Given the description of an element on the screen output the (x, y) to click on. 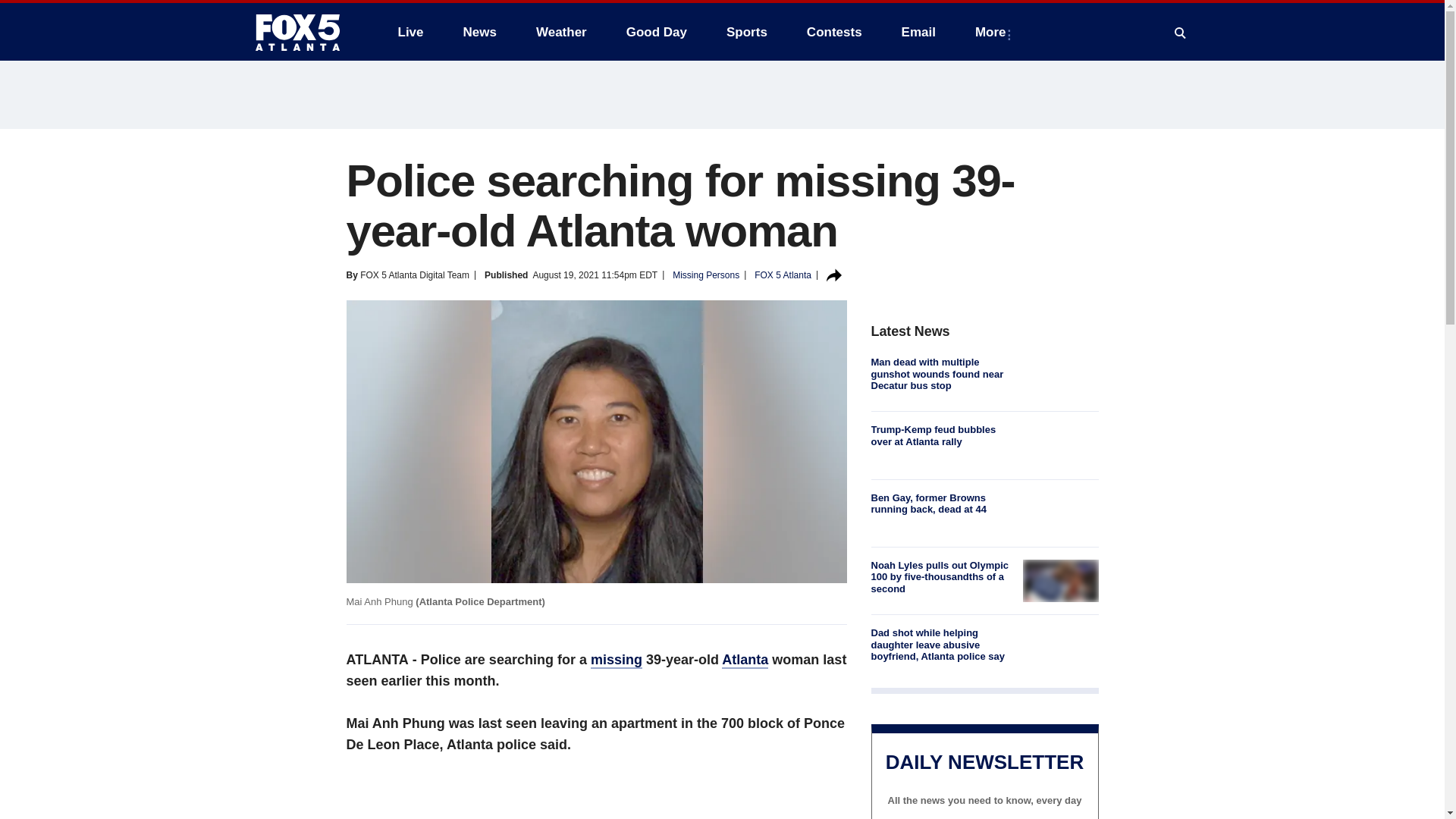
Sports (746, 32)
Weather (561, 32)
Contests (834, 32)
Live (410, 32)
Good Day (656, 32)
More (993, 32)
News (479, 32)
Email (918, 32)
